Given the description of an element on the screen output the (x, y) to click on. 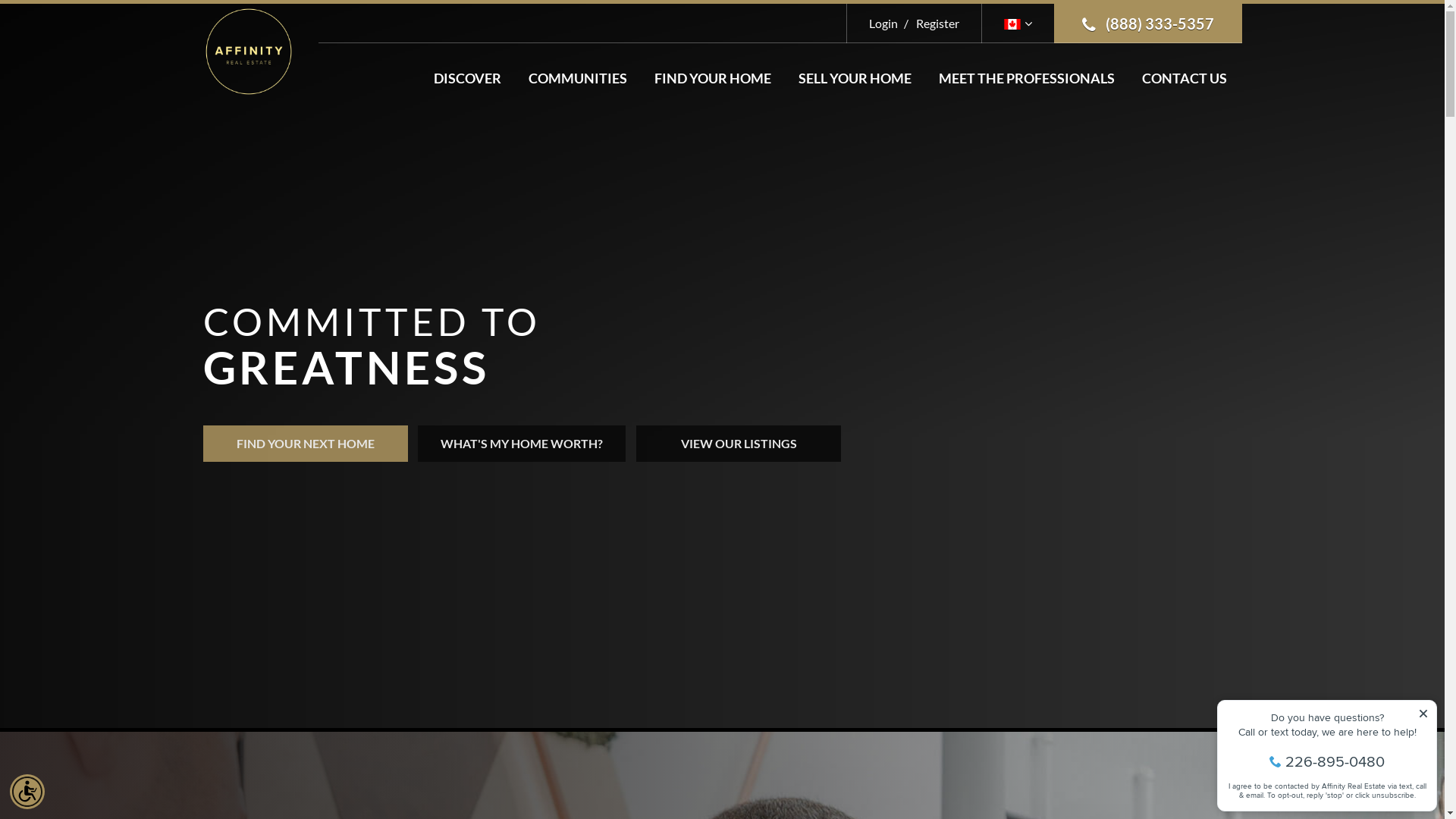
Login Element type: text (883, 22)
FIND YOUR NEXT HOME Element type: text (305, 443)
Home Page Element type: hover (248, 49)
SELL YOUR HOME Element type: text (853, 77)
VIEW OUR LISTINGS Element type: text (738, 443)
WHAT'S MY HOME WORTH? Element type: text (521, 443)
(888) 333-5357 Element type: text (1147, 23)
Select Language Element type: hover (1018, 23)
DISCOVER Element type: text (467, 77)
MEET THE PROFESSIONALS Element type: text (1026, 77)
COMMUNITIES Element type: text (576, 77)
FIND YOUR HOME Element type: text (711, 77)
CONTACT US Element type: text (1184, 77)
Register Element type: text (929, 22)
